Given the description of an element on the screen output the (x, y) to click on. 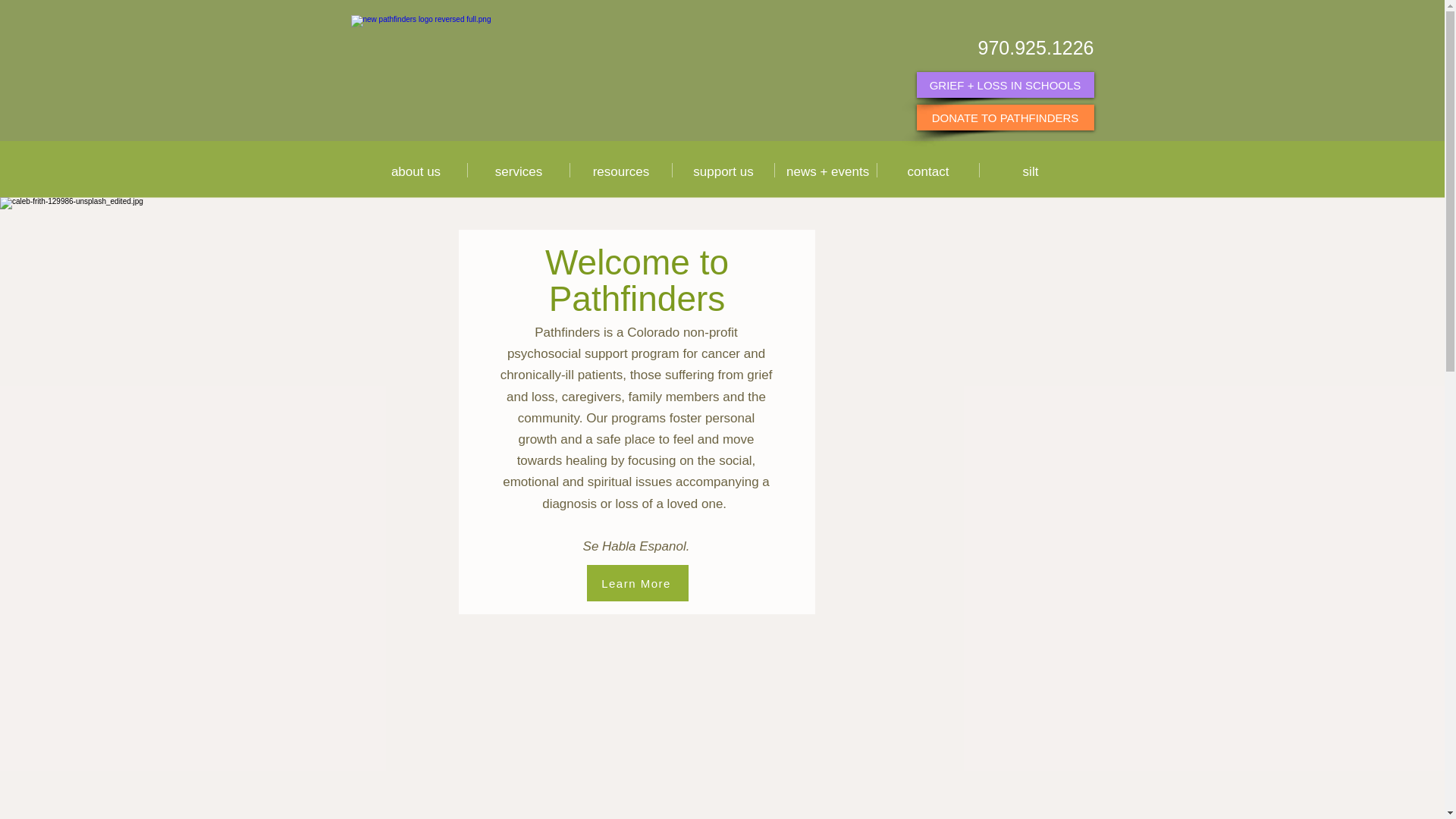
resources (620, 169)
Learn More (637, 583)
DONATE TO PATHFINDERS (1004, 117)
about us (416, 169)
contact (927, 169)
support us (723, 169)
silt (1030, 169)
services (518, 169)
970.925.1226 (1036, 47)
